Given the description of an element on the screen output the (x, y) to click on. 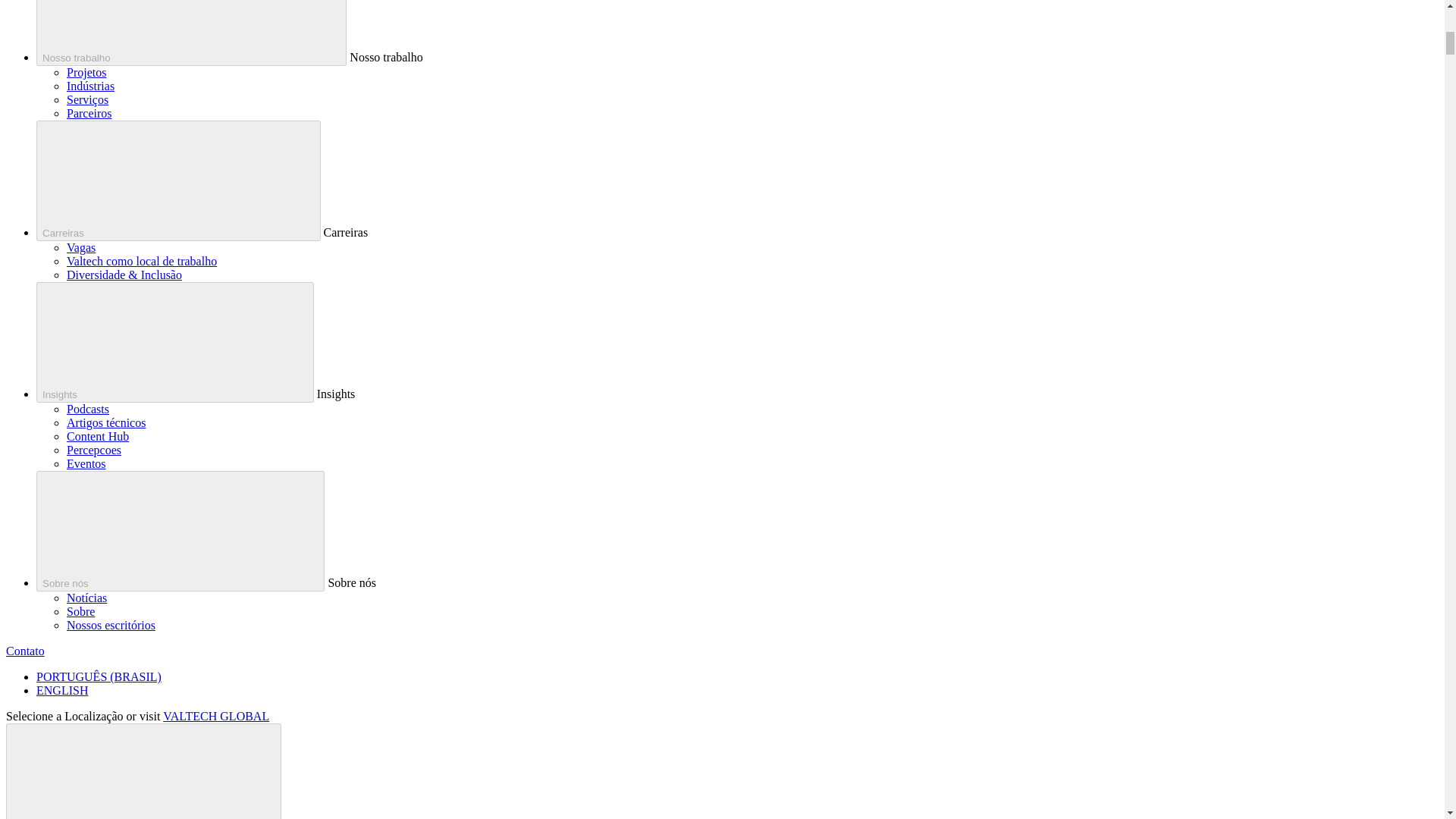
Podcasts (87, 408)
Eventos (86, 463)
Sobre (80, 611)
Projetos (86, 72)
Parceiros (89, 113)
Percepcoes (93, 449)
Insights (175, 341)
Valtech como local de trabalho (141, 260)
Nosso trabalho (191, 33)
ENGLISH (61, 689)
Europa (143, 771)
Content Hub (97, 436)
VALTECH GLOBAL (216, 716)
Vagas (81, 246)
Contato (25, 650)
